Given the description of an element on the screen output the (x, y) to click on. 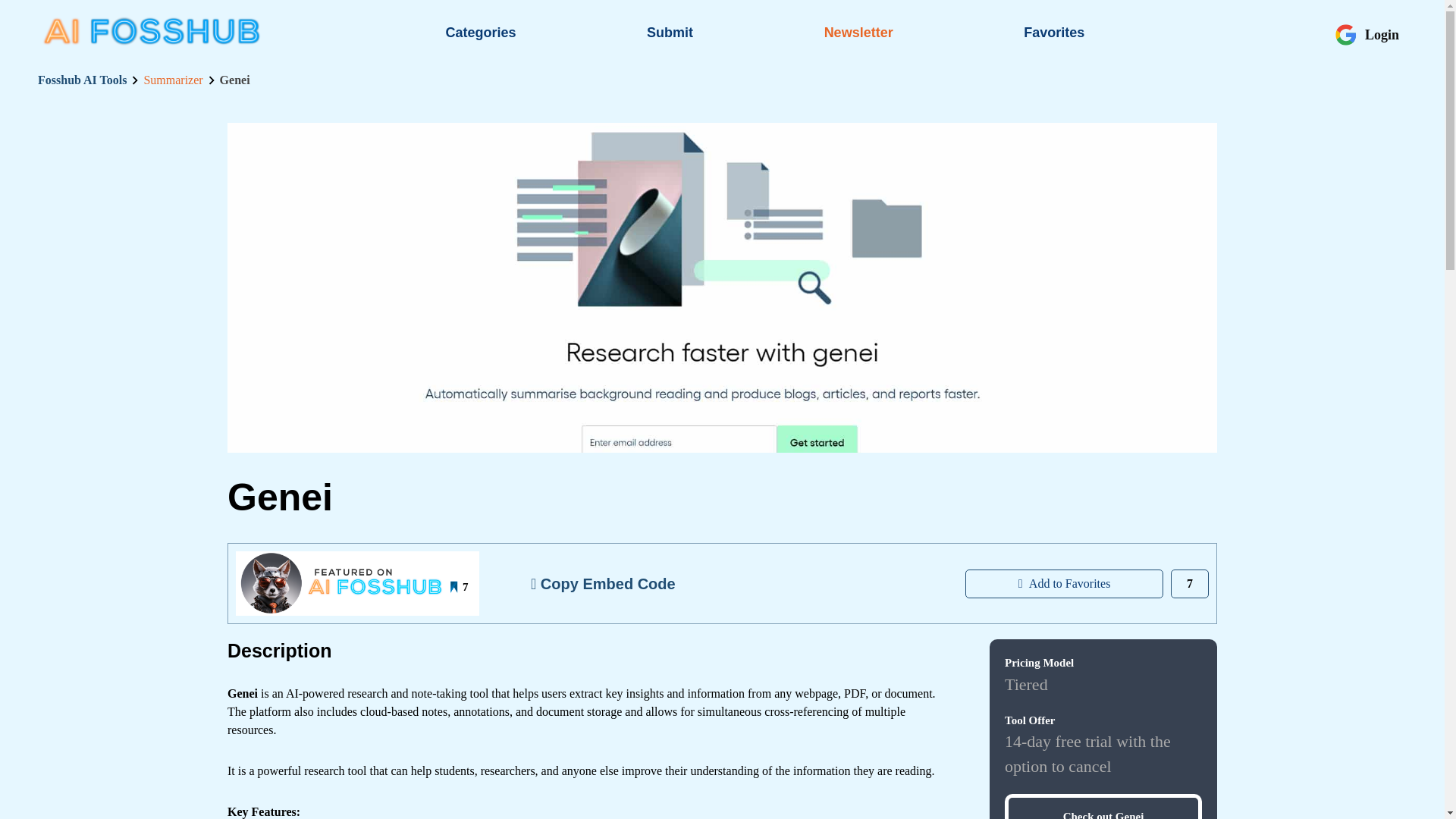
Summarizer (172, 79)
Newsletter (858, 31)
Check out Genei (1103, 806)
Sign in to add favorites (1064, 583)
Add to Favorites (1064, 583)
Submit (669, 31)
Copy Embed Code (602, 583)
Categories (480, 31)
Fosshub AI Tools (81, 79)
Favorites (1053, 31)
